Given the description of an element on the screen output the (x, y) to click on. 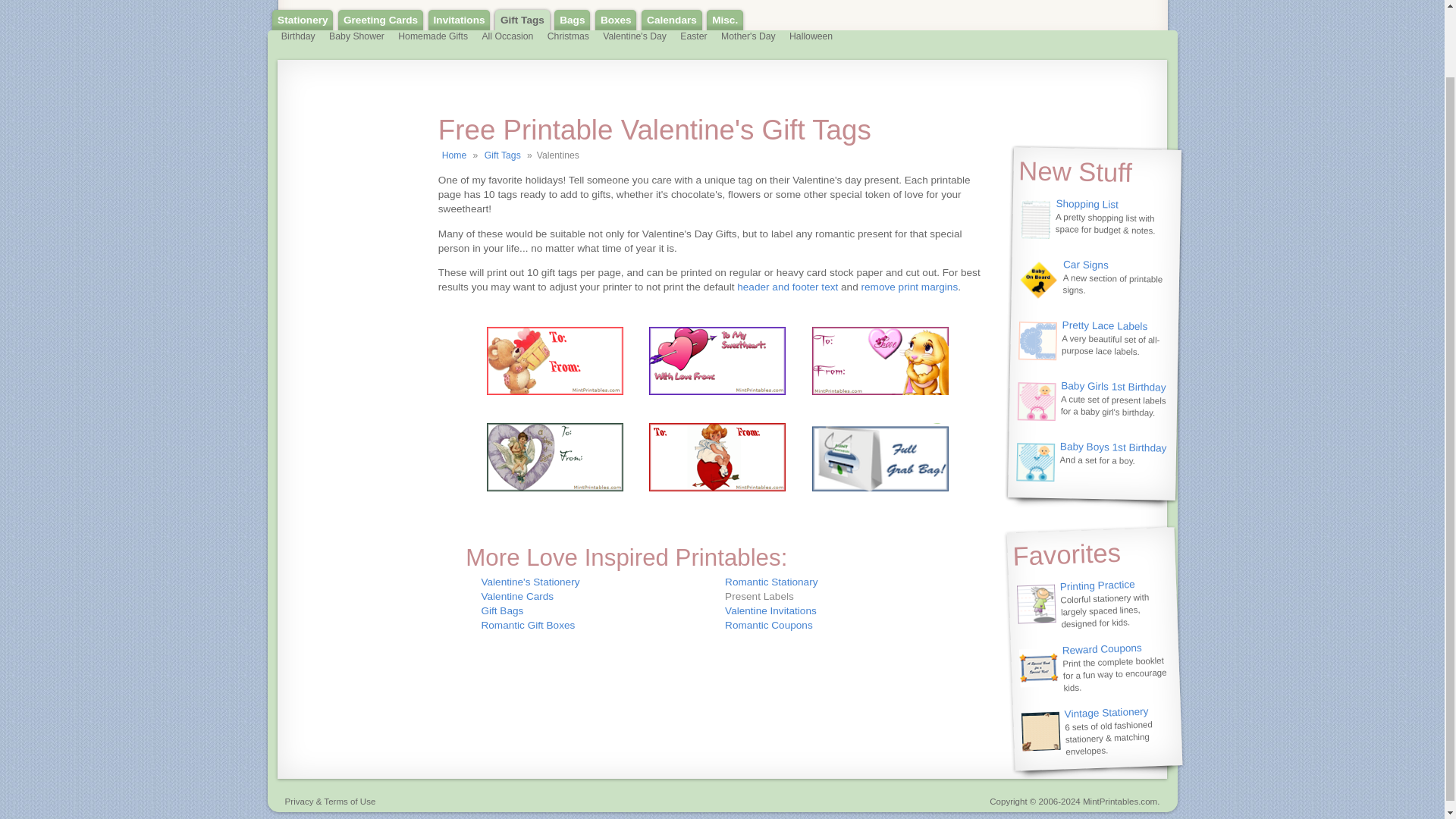
Shopping List (1087, 203)
Romantic Gift Boxes (527, 624)
Valentine Cards (516, 595)
Car Signs (1085, 264)
You're here (842, 595)
All Occasion (506, 37)
Valentine's Stationery (529, 582)
Easter (692, 37)
Baby Girls 1st Birthday (1113, 385)
Christmas (568, 37)
